Given the description of an element on the screen output the (x, y) to click on. 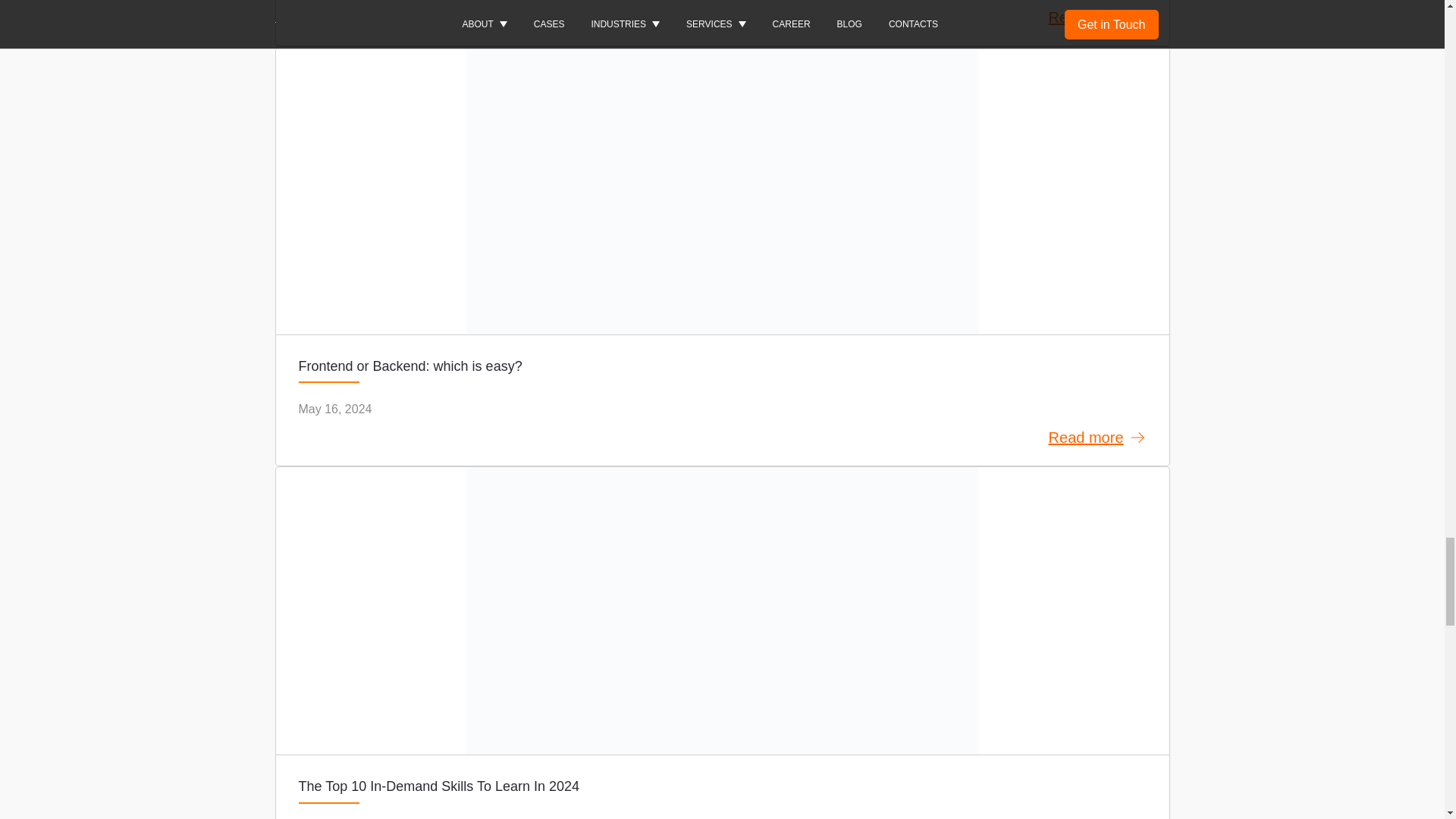
How to develop a minigame with the help of AI (722, 22)
